Given the description of an element on the screen output the (x, y) to click on. 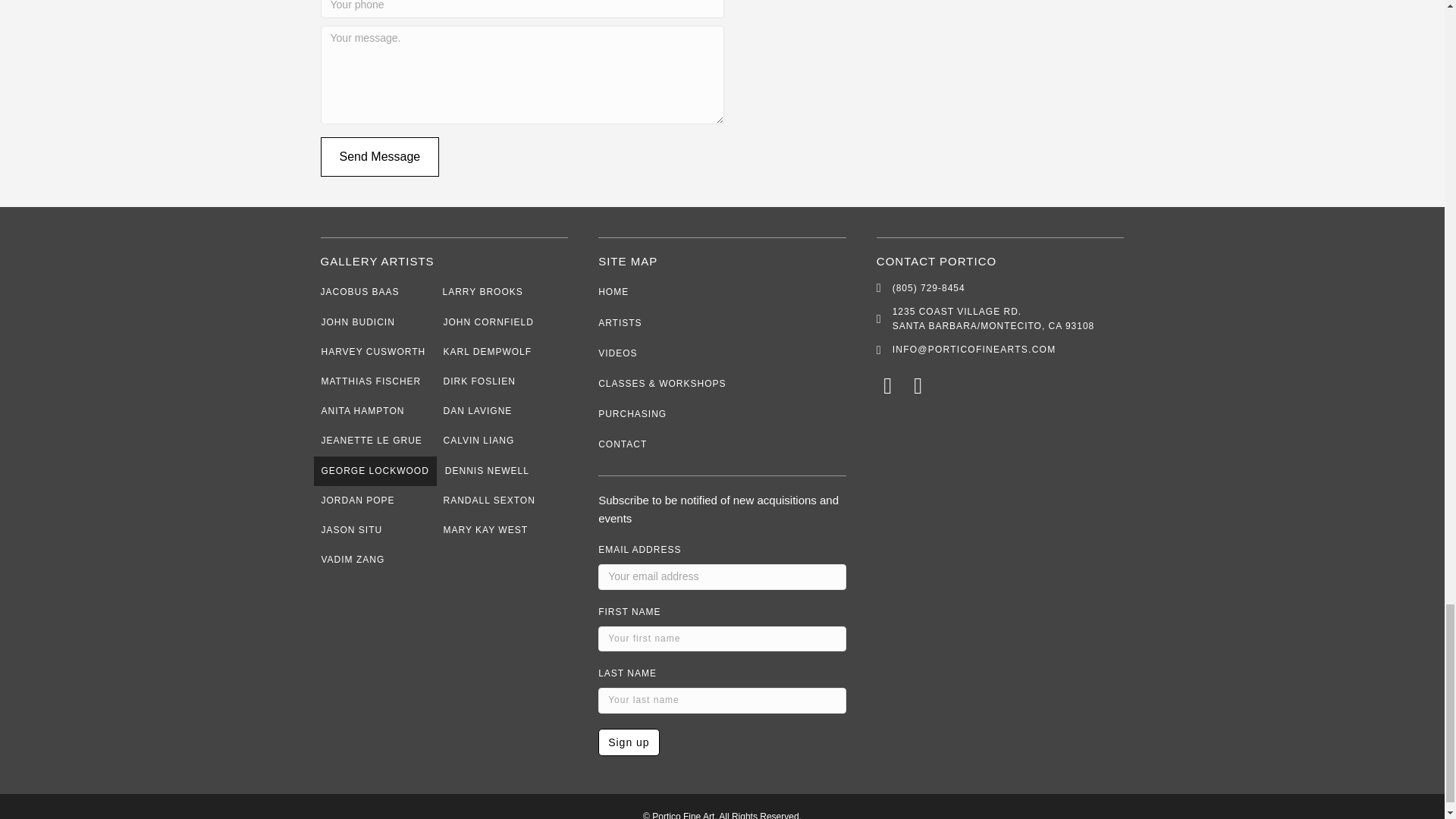
Sign up (628, 741)
